Given the description of an element on the screen output the (x, y) to click on. 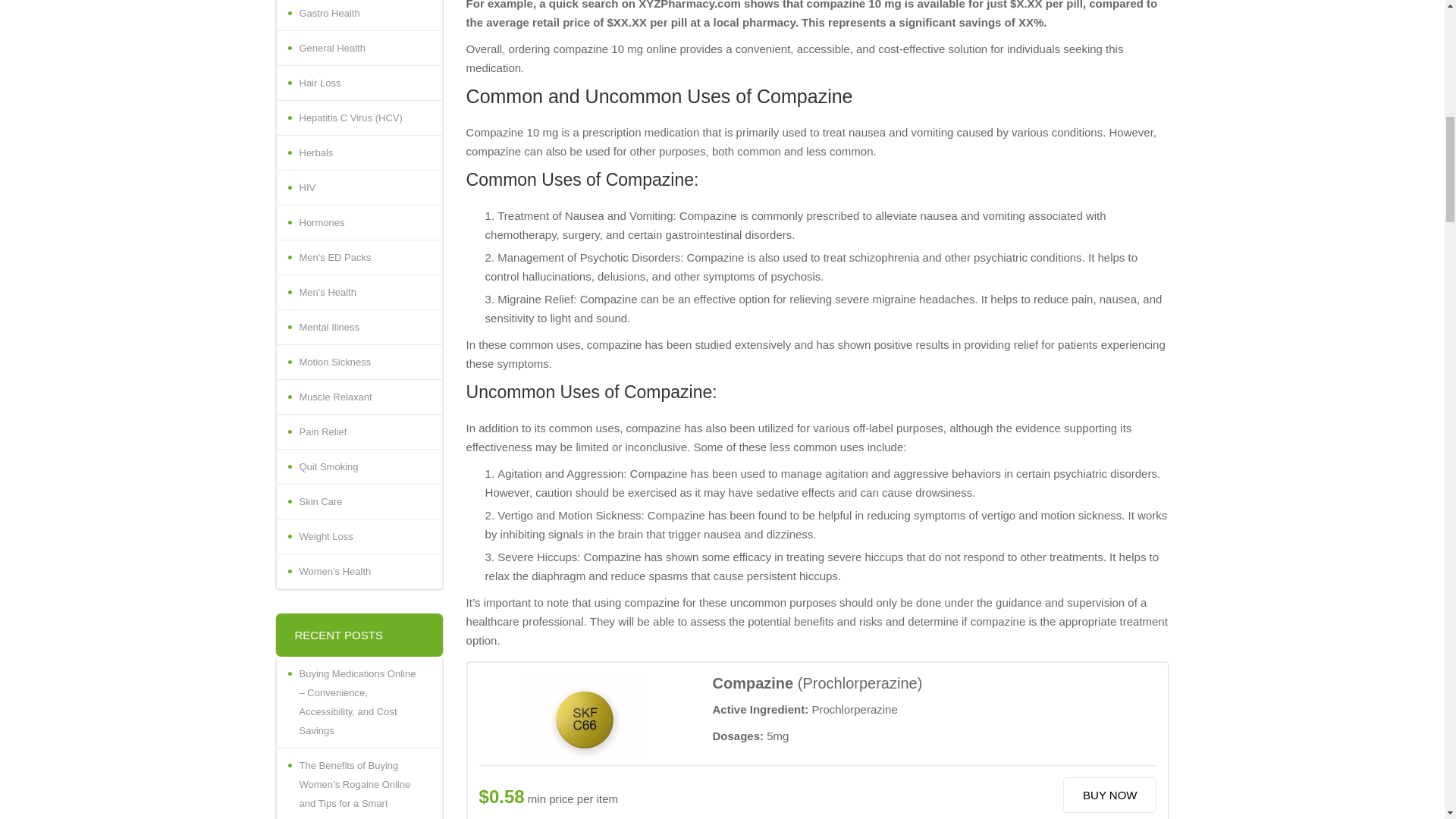
BUY NOW (1109, 795)
Buy Now (1109, 795)
Gastro Health (358, 15)
